Given the description of an element on the screen output the (x, y) to click on. 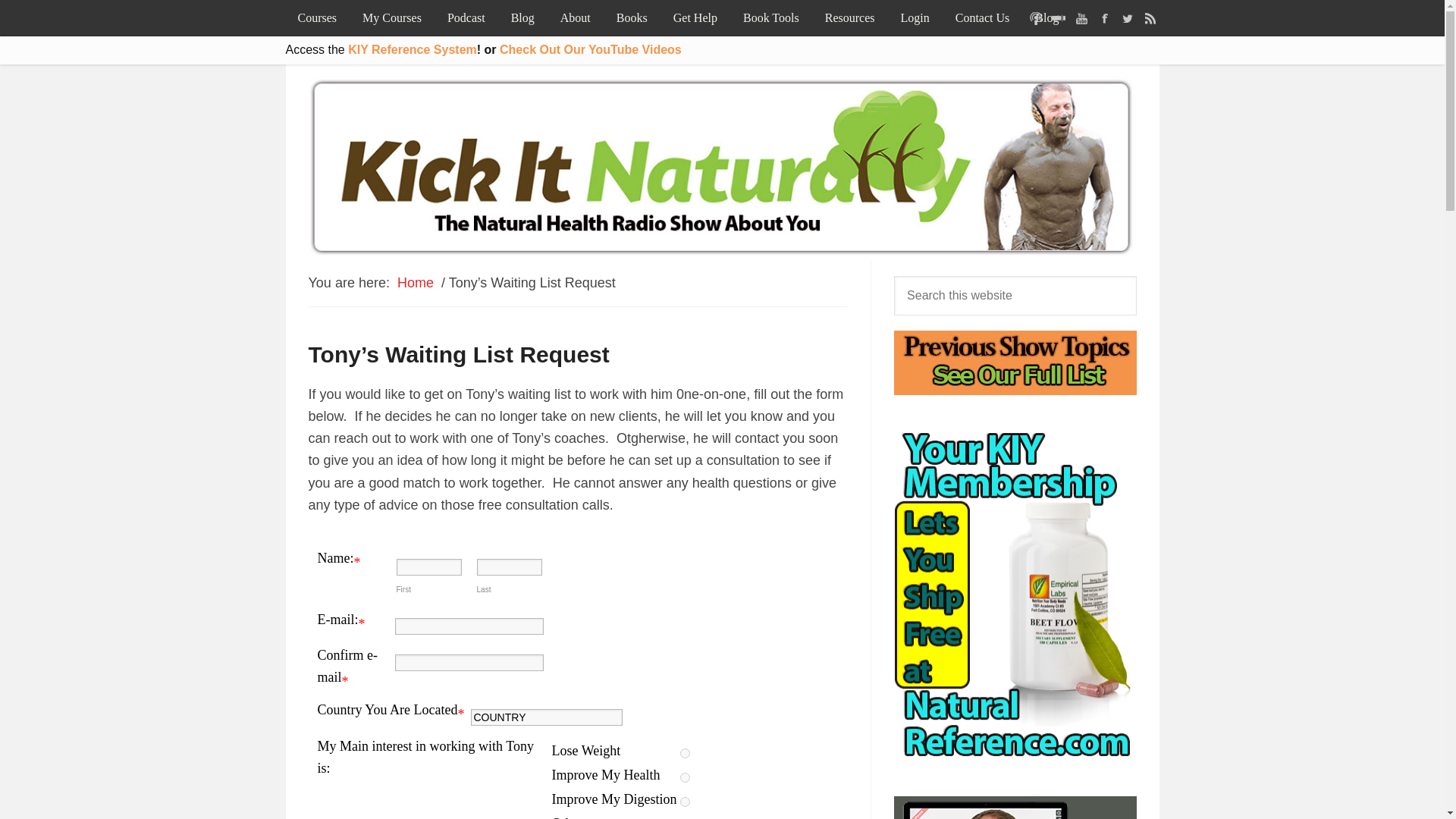
Check Out Our YouTube Videos (590, 49)
Lose Weight (684, 753)
Improve My Health (684, 777)
Resources (849, 18)
Login (914, 18)
Books (631, 18)
My Courses (391, 18)
Home (415, 282)
Book Tools (770, 18)
Show Topics (1014, 362)
